Given the description of an element on the screen output the (x, y) to click on. 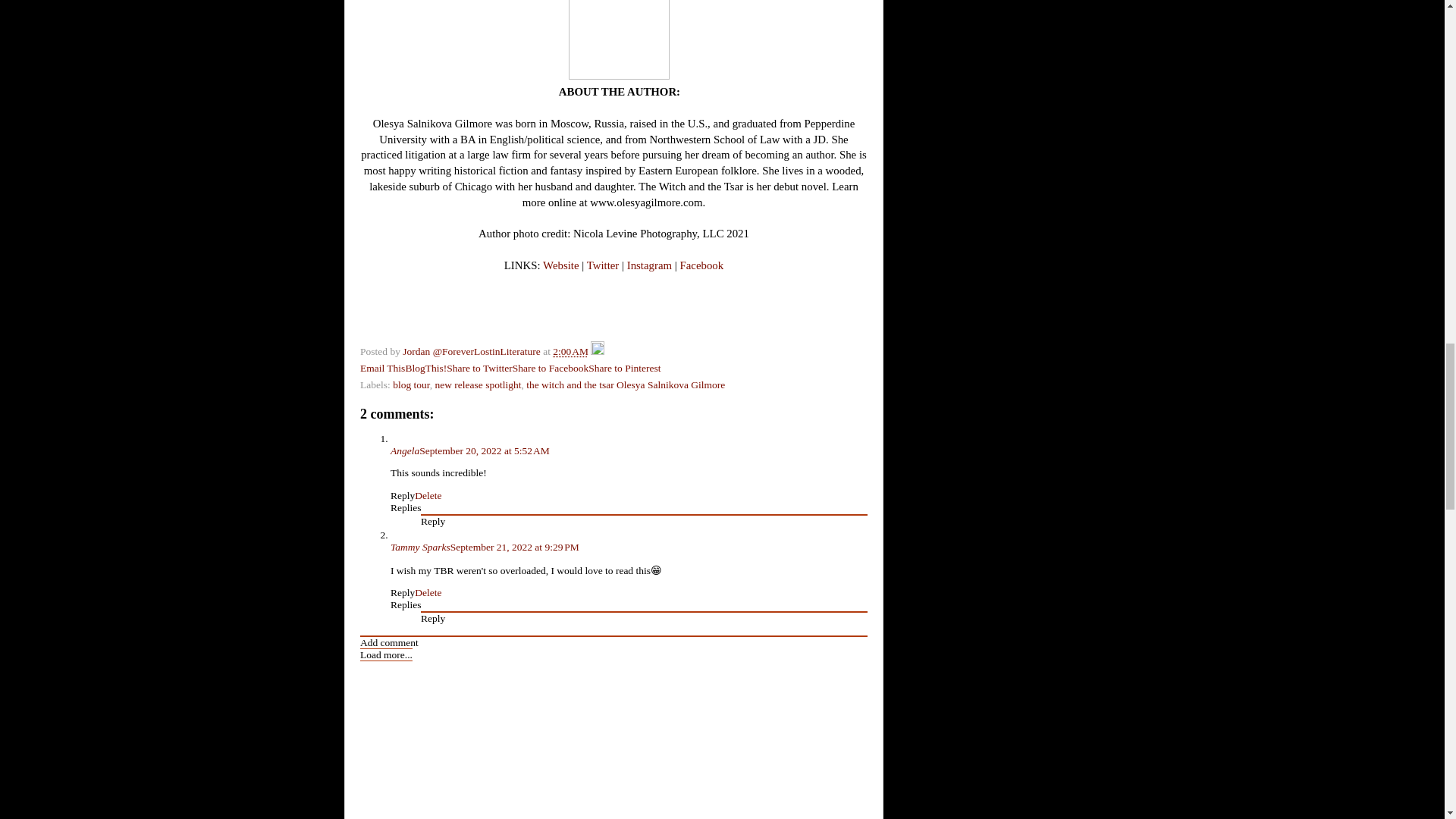
blog tour (411, 384)
permanent link (570, 351)
Email This (381, 367)
Email This (381, 367)
author profile (473, 351)
the witch and the tsar Olesya Salnikova Gilmore (625, 384)
Twitter (603, 265)
BlogThis! (425, 367)
Edit Post (597, 351)
Website (560, 265)
Share to Facebook (550, 367)
Share to Pinterest (624, 367)
Share to Twitter (479, 367)
Share to Facebook (550, 367)
Share to Pinterest (624, 367)
